Given the description of an element on the screen output the (x, y) to click on. 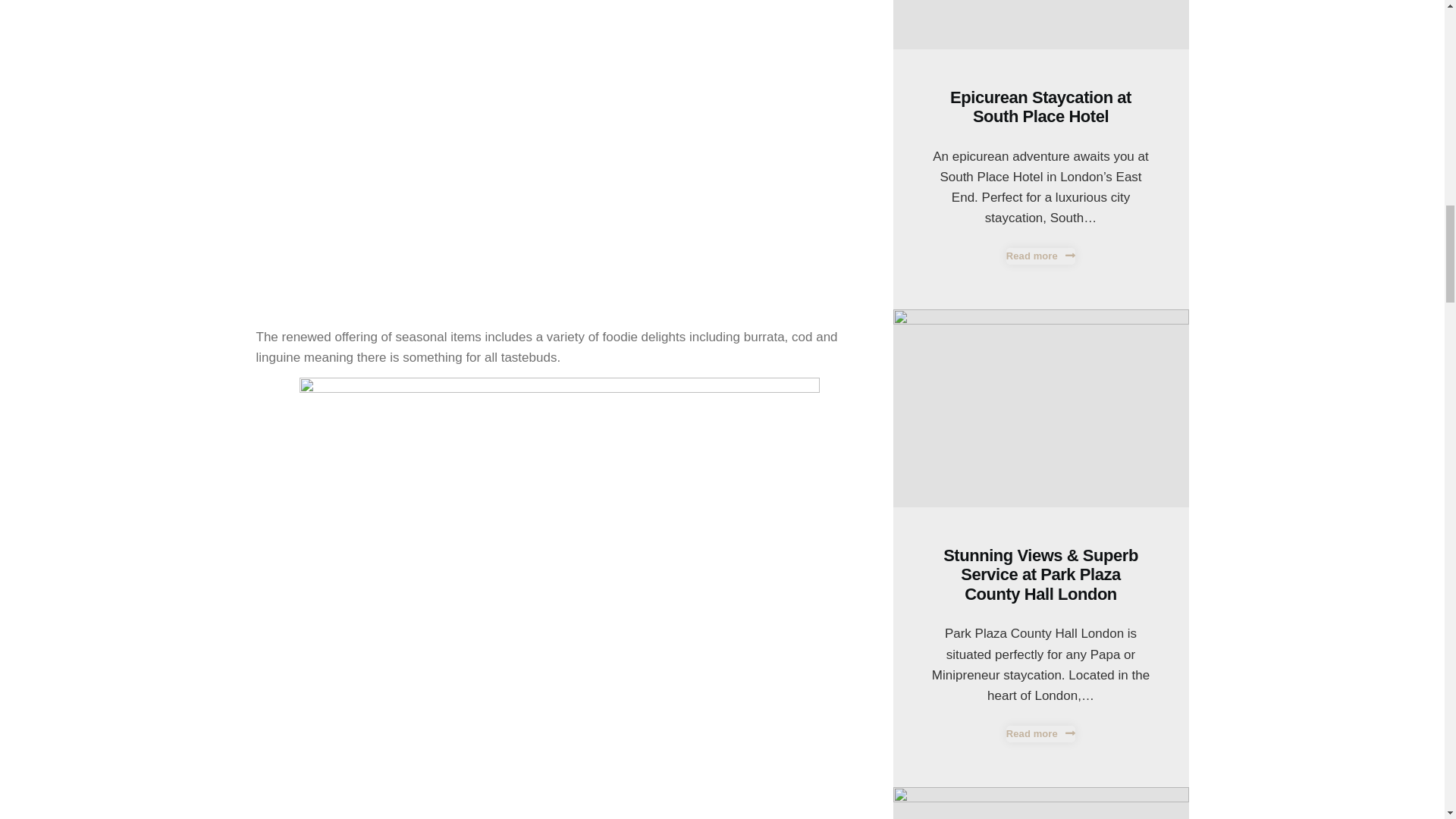
Read more (1040, 733)
Read more (1040, 256)
Epicurean Staycation at South Place Hotel (1040, 106)
